Given the description of an element on the screen output the (x, y) to click on. 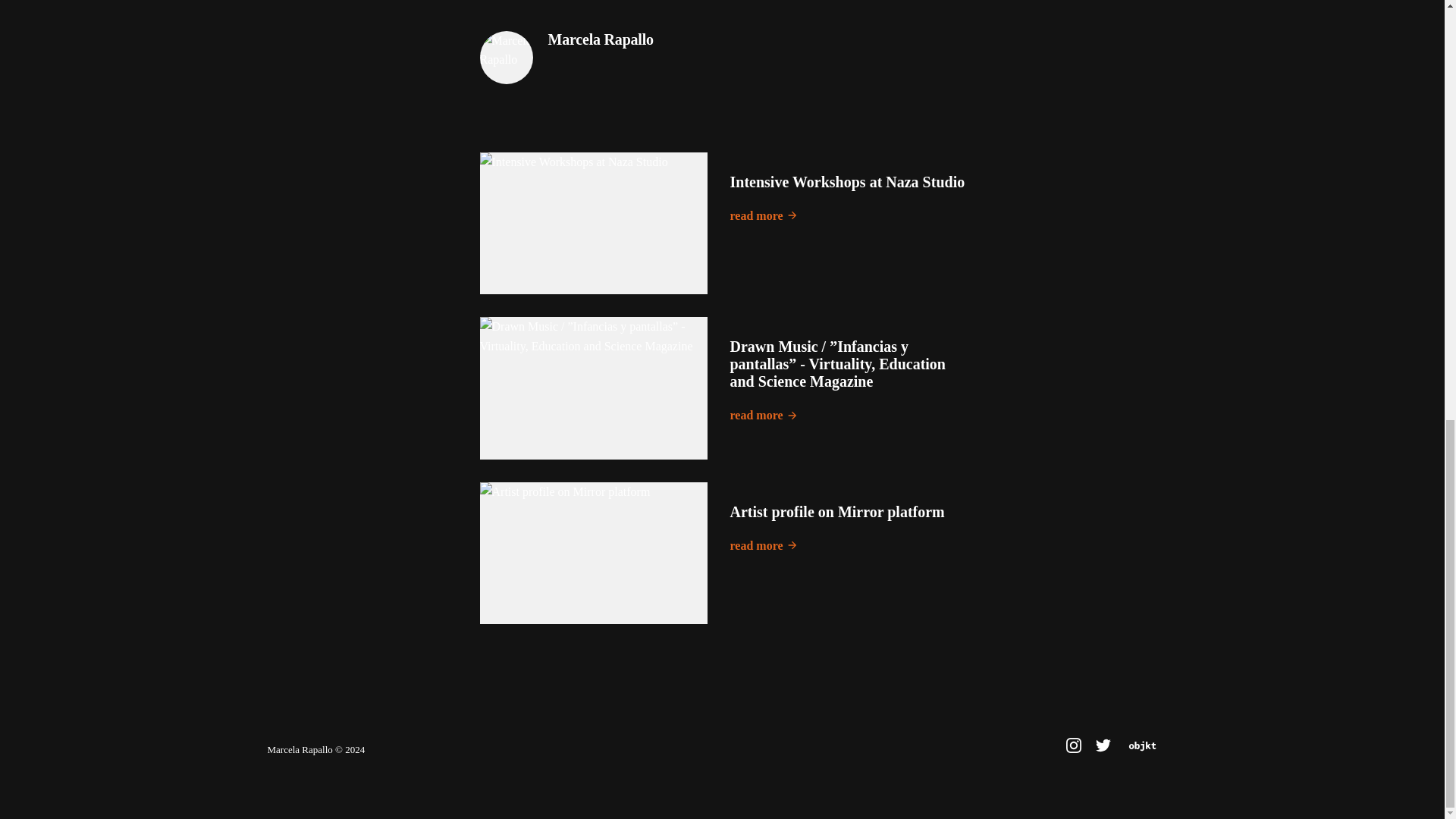
Twitter (1103, 744)
Instagram (1073, 744)
read more (763, 216)
Artist profile on Mirror platform (836, 511)
Twitter (1104, 749)
read more (763, 546)
Intensive Workshops at Naza Studio (846, 181)
read more (763, 415)
Marcela Rapallo (599, 39)
Instagram (1074, 749)
